Given the description of an element on the screen output the (x, y) to click on. 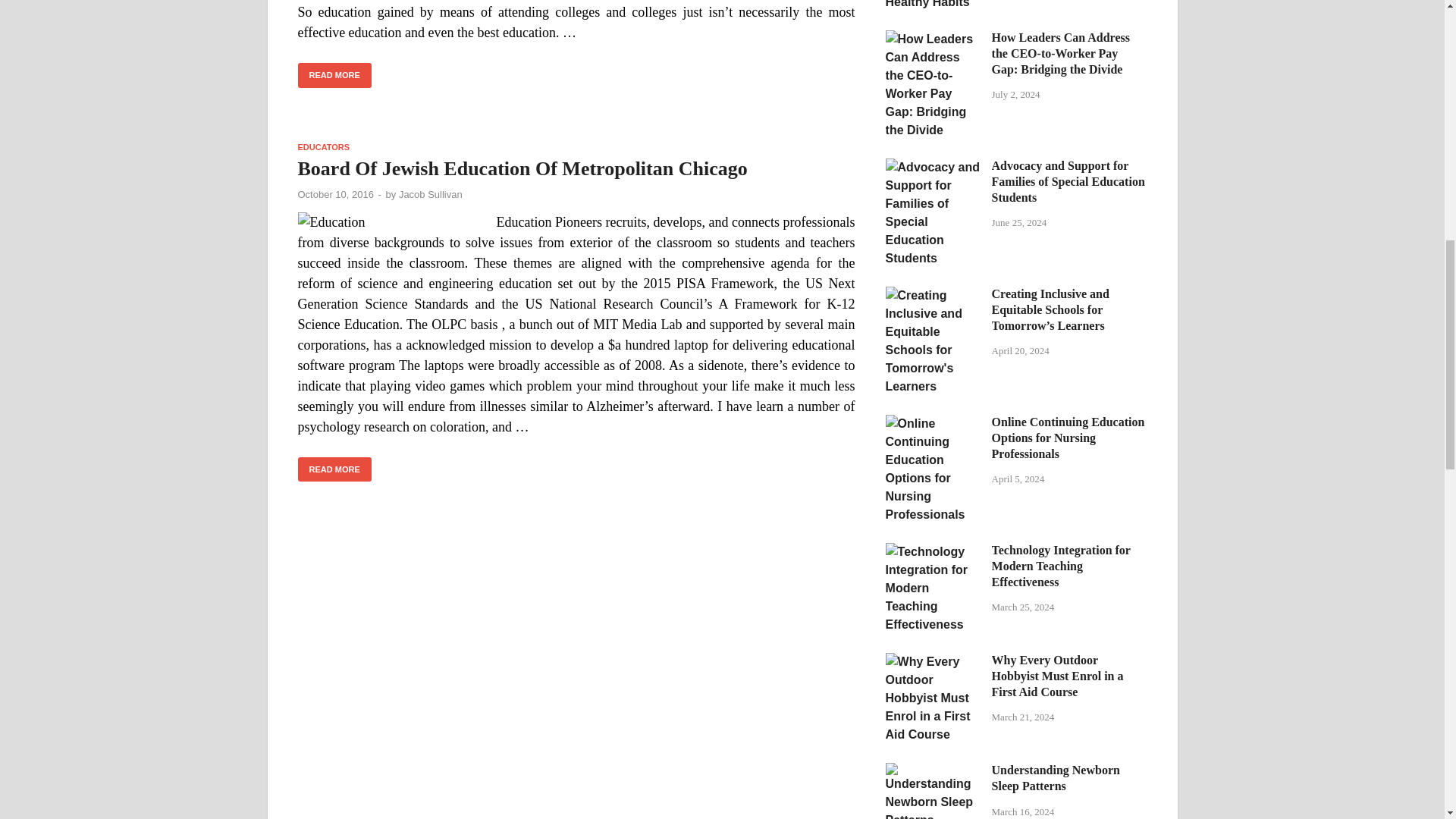
Why Every Outdoor Hobbyist Must Enrol in a First Aid Course (932, 661)
Understanding Newborn Sleep Patterns (932, 771)
EDUCATORS (323, 146)
READ MORE (334, 75)
Technology Integration for Modern Teaching Effectiveness (932, 551)
October 10, 2016 (334, 194)
Board Of Jewish Education Of Metropolitan Chicago (521, 168)
